Given the description of an element on the screen output the (x, y) to click on. 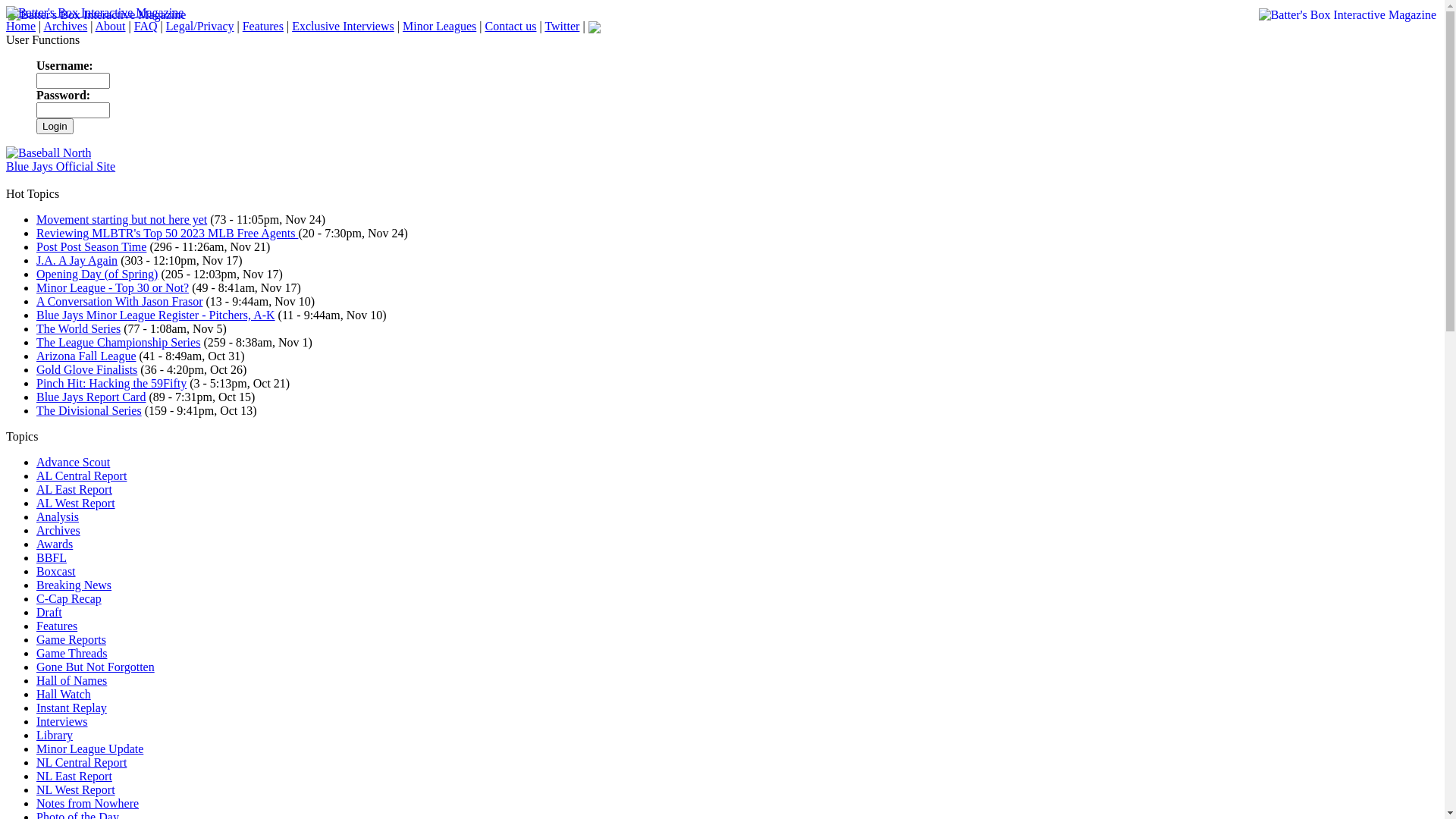
Blue Jays Minor League Register - Pitchers, A-K Element type: text (155, 314)
Contact us Element type: text (510, 25)
Pinch Hit: Hacking the 59Fifty Element type: text (111, 382)
Interviews Element type: text (61, 721)
C-Cap Recap Element type: text (68, 598)
Gone But Not Forgotten Element type: text (95, 666)
Exclusive Interviews Element type: text (342, 25)
Login Element type: text (54, 126)
Hall of Names Element type: text (71, 680)
Twitter Element type: text (561, 25)
AL West Report Element type: text (75, 502)
Game Reports Element type: text (71, 639)
The League Championship Series Element type: text (118, 341)
Opening Day (of Spring) Element type: text (96, 273)
Features Element type: text (56, 625)
The Divisional Series Element type: text (88, 410)
Advance Scout Element type: text (72, 461)
A Conversation With Jason Frasor Element type: text (119, 300)
NL West Report Element type: text (75, 789)
Draft Element type: text (49, 611)
About Element type: text (110, 25)
Blue Jays Official Site Element type: text (60, 166)
AL East Report Element type: text (74, 489)
Home Element type: text (20, 25)
Features Element type: text (262, 25)
BBFL Element type: text (51, 557)
Arizona Fall League Element type: text (86, 355)
Legal/Privacy Element type: text (200, 25)
Archives Element type: text (65, 25)
NL East Report Element type: text (74, 775)
FAQ Element type: text (145, 25)
Awards Element type: text (54, 543)
NL Central Report Element type: text (81, 762)
Game Threads Element type: text (71, 652)
Breaking News Element type: text (73, 584)
Minor Leagues Element type: text (439, 25)
AL Central Report Element type: text (81, 475)
Minor League Update Element type: text (89, 748)
Movement starting but not here yet Element type: text (121, 219)
Minor League - Top 30 or Not? Element type: text (112, 287)
Hall Watch Element type: text (63, 693)
Instant Replay Element type: text (71, 707)
Blue Jays Report Card Element type: text (90, 396)
The World Series Element type: text (78, 328)
Reviewing MLBTR's Top 50 2023 MLB Free Agents Element type: text (167, 232)
Gold Glove Finalists Element type: text (86, 369)
Post Post Season Time Element type: text (91, 246)
Analysis Element type: text (57, 516)
Batter's Box Feed Element type: hover (594, 25)
Library Element type: text (54, 734)
Boxcast Element type: text (55, 570)
Archives Element type: text (58, 530)
J.A. A Jay Again Element type: text (76, 260)
Notes from Nowhere Element type: text (87, 803)
